Given the description of an element on the screen output the (x, y) to click on. 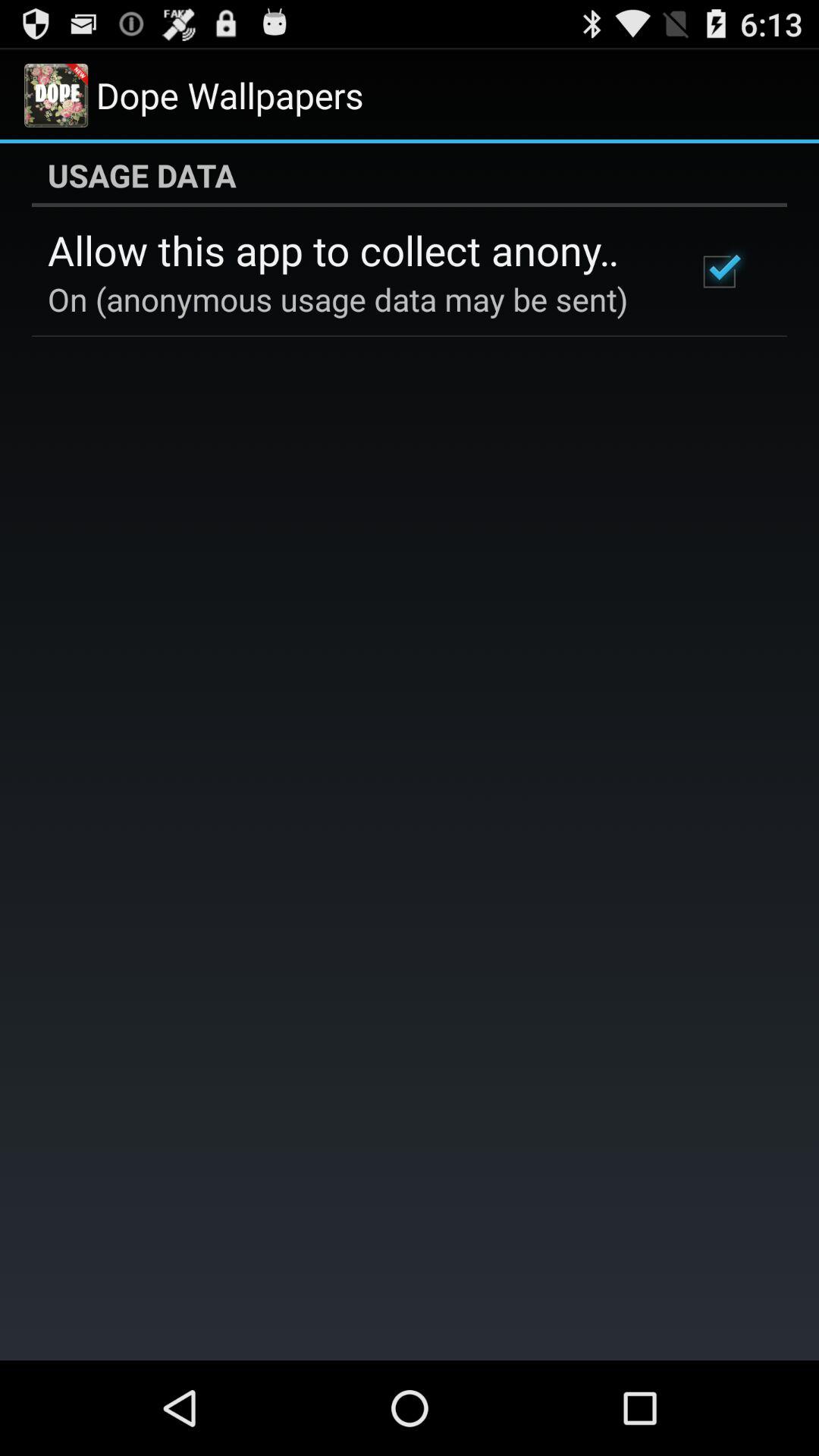
flip to the allow this app icon (351, 249)
